Given the description of an element on the screen output the (x, y) to click on. 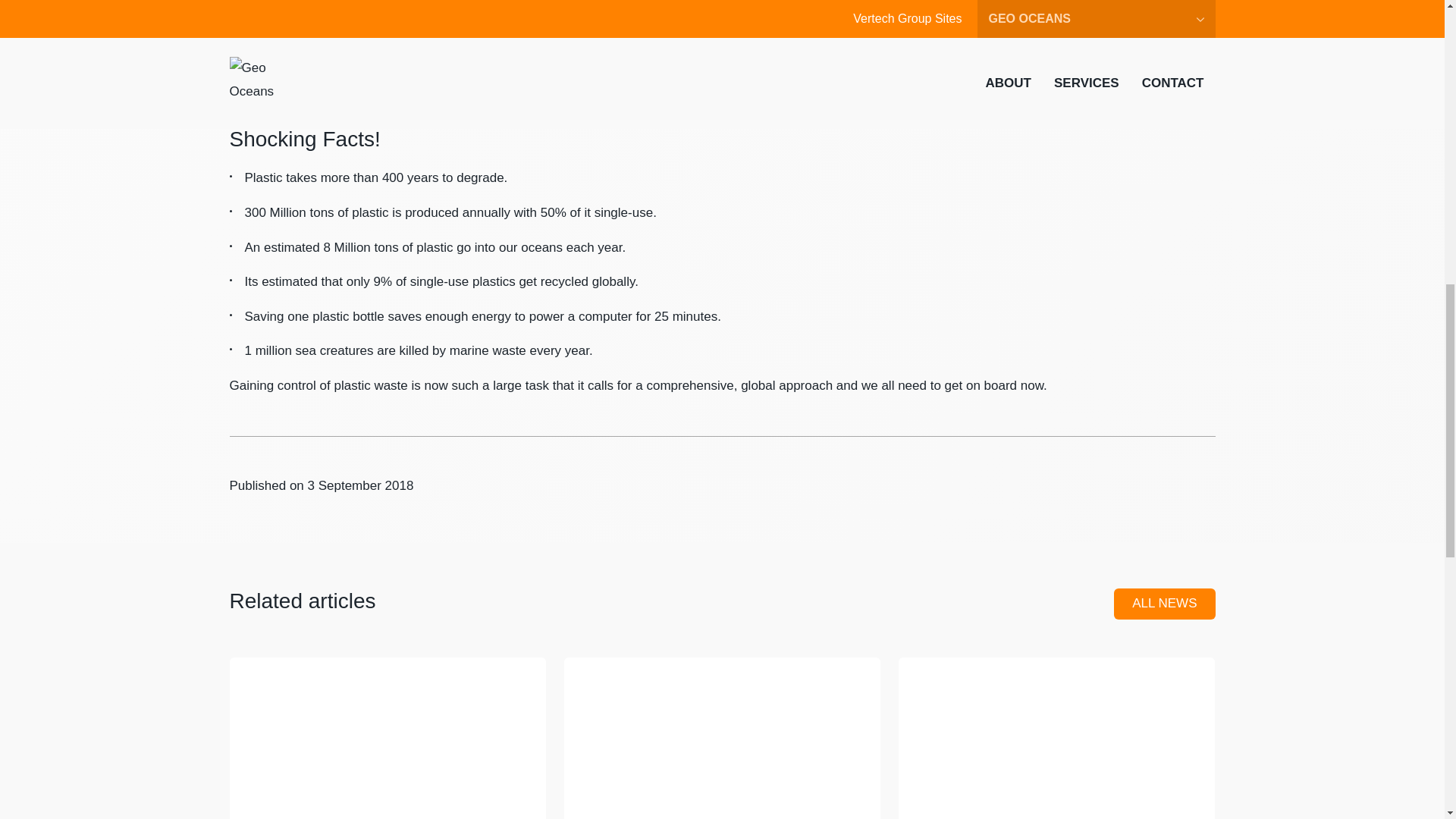
ALL NEWS (1163, 603)
Australian Subsea Exporter of the Year awards. (721, 715)
